Given the description of an element on the screen output the (x, y) to click on. 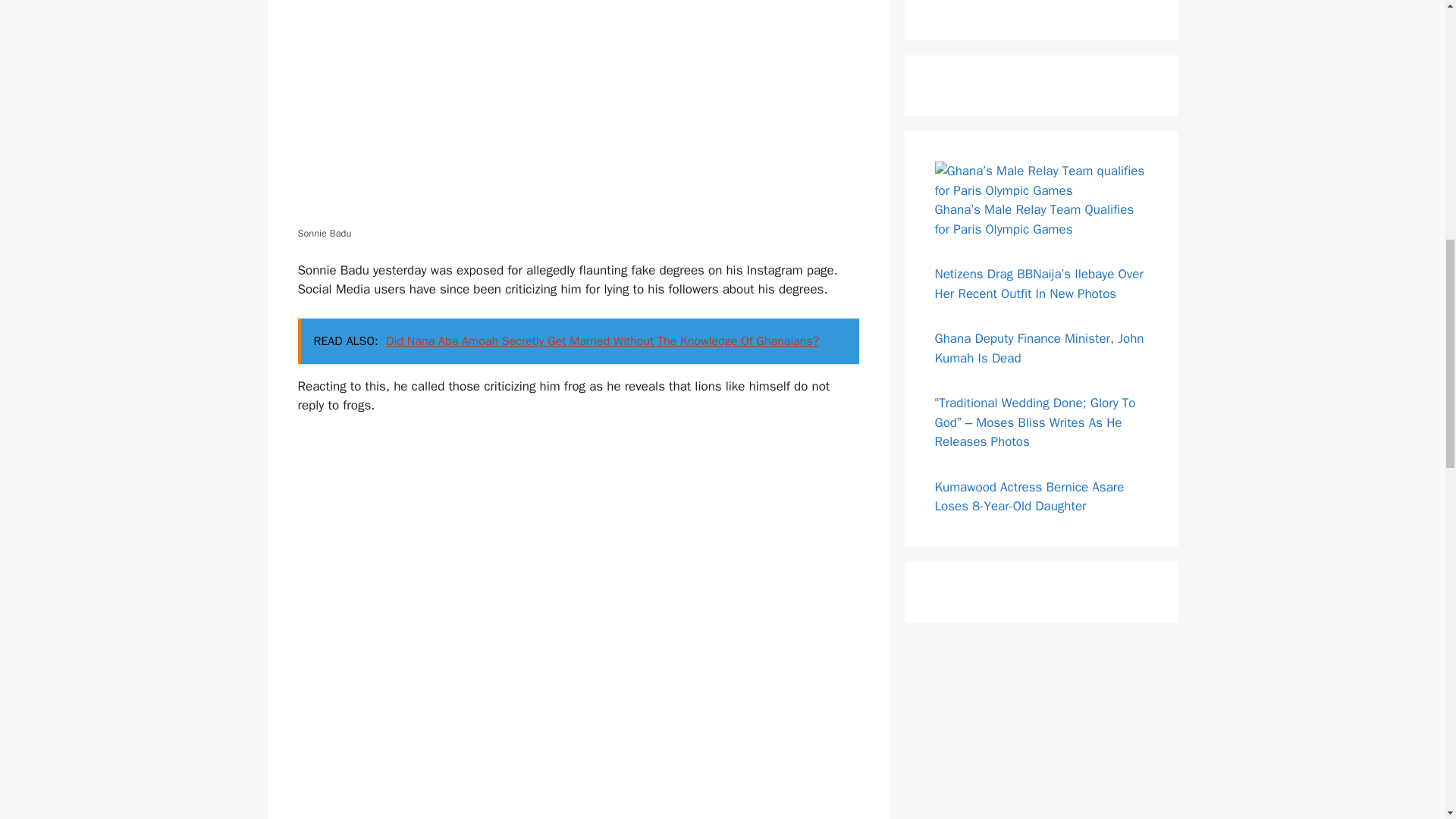
Ghana Deputy Finance Minister, John Kumah Is Dead (1038, 348)
Kumawood Actress Bernice Asare Loses 8-Year-Old Daughter (1029, 497)
